Given the description of an element on the screen output the (x, y) to click on. 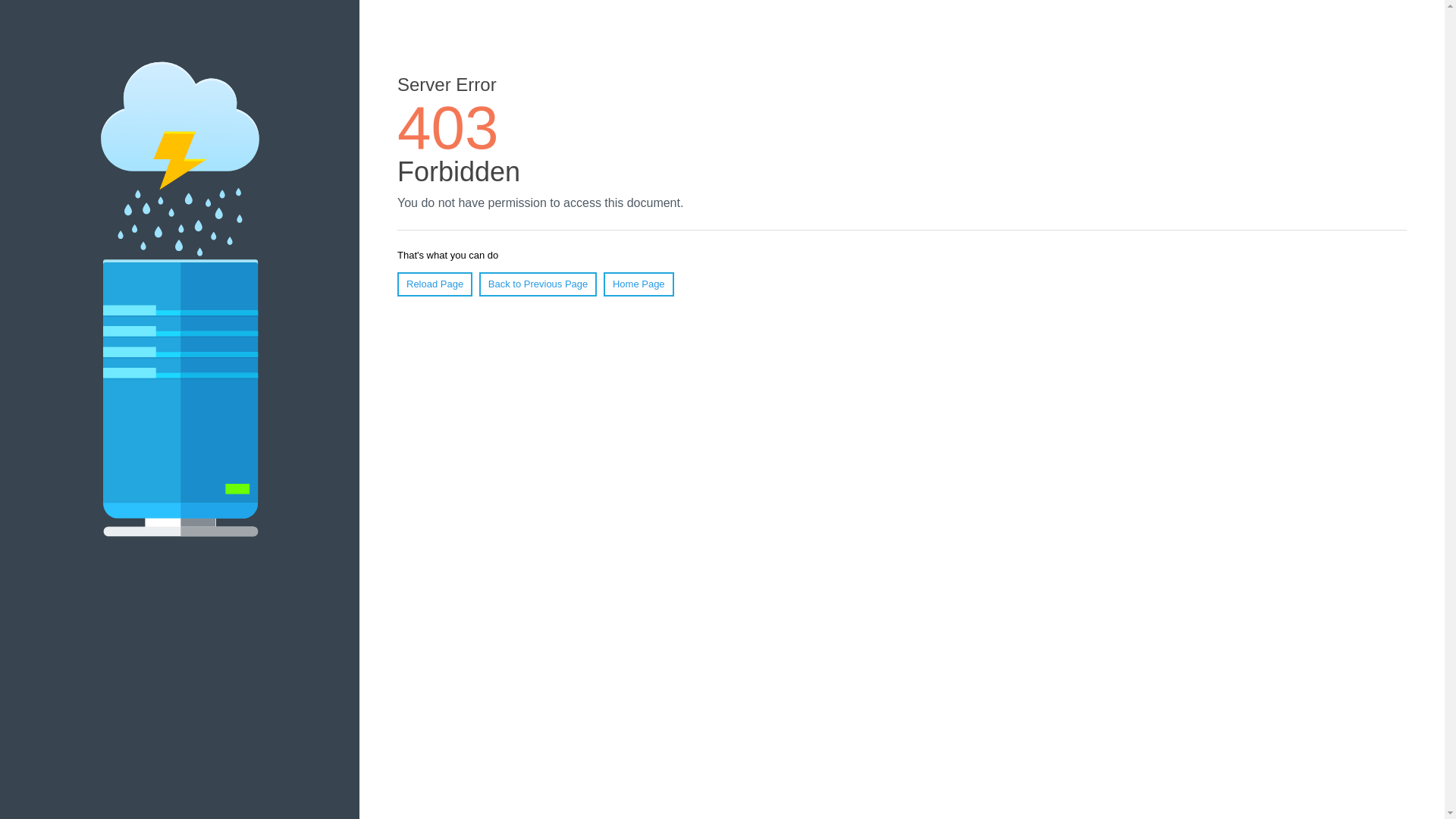
Home Page Element type: text (638, 284)
Back to Previous Page Element type: text (538, 284)
Reload Page Element type: text (434, 284)
